Given the description of an element on the screen output the (x, y) to click on. 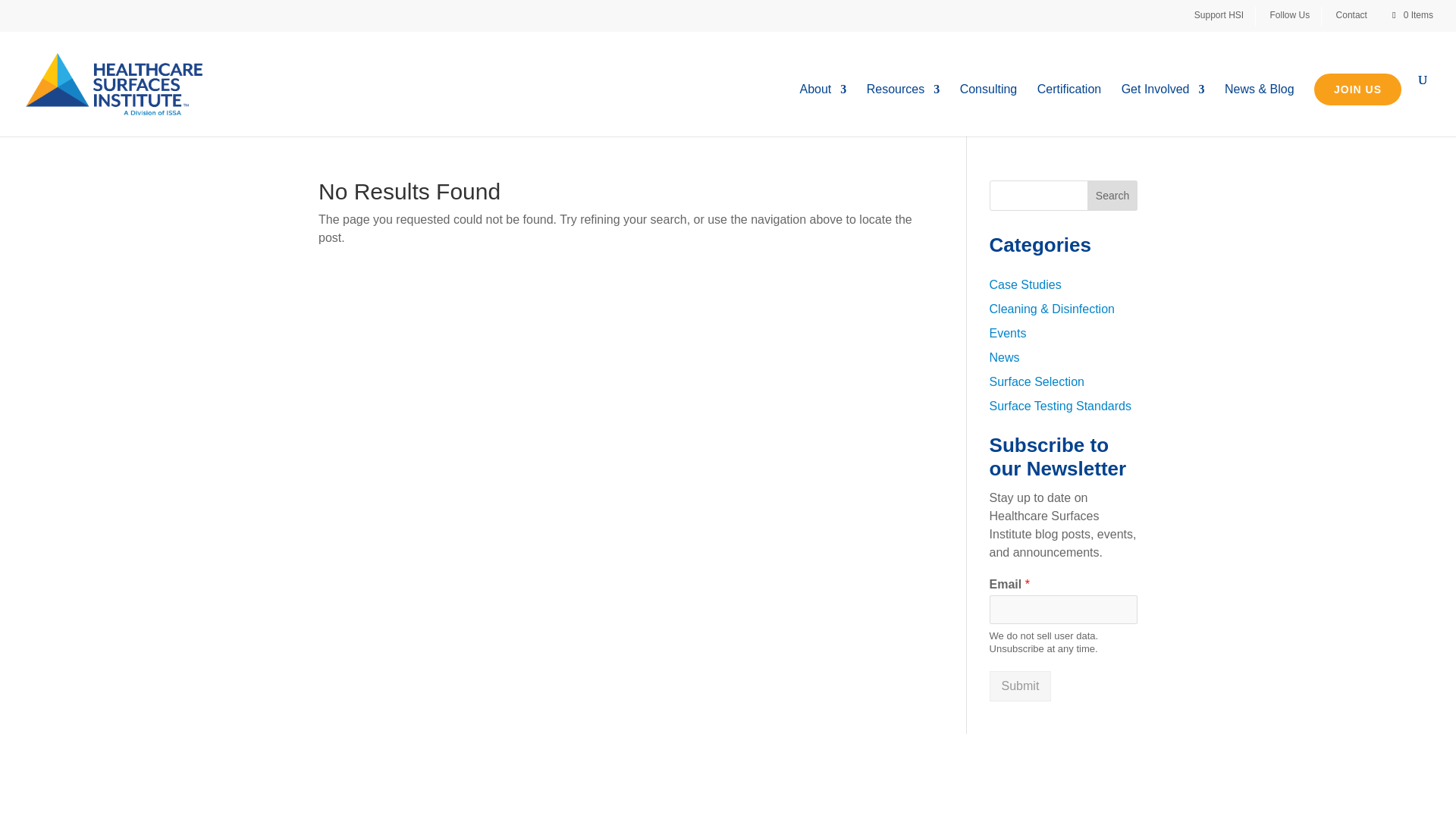
Support HSI (1224, 16)
Consulting (988, 110)
About (822, 110)
JOIN US (1357, 89)
0 Items (1411, 14)
Get Involved (1163, 110)
Contact (1357, 16)
Resources (902, 110)
Search (1112, 195)
Follow Us (1295, 16)
Certification (1068, 110)
